Given the description of an element on the screen output the (x, y) to click on. 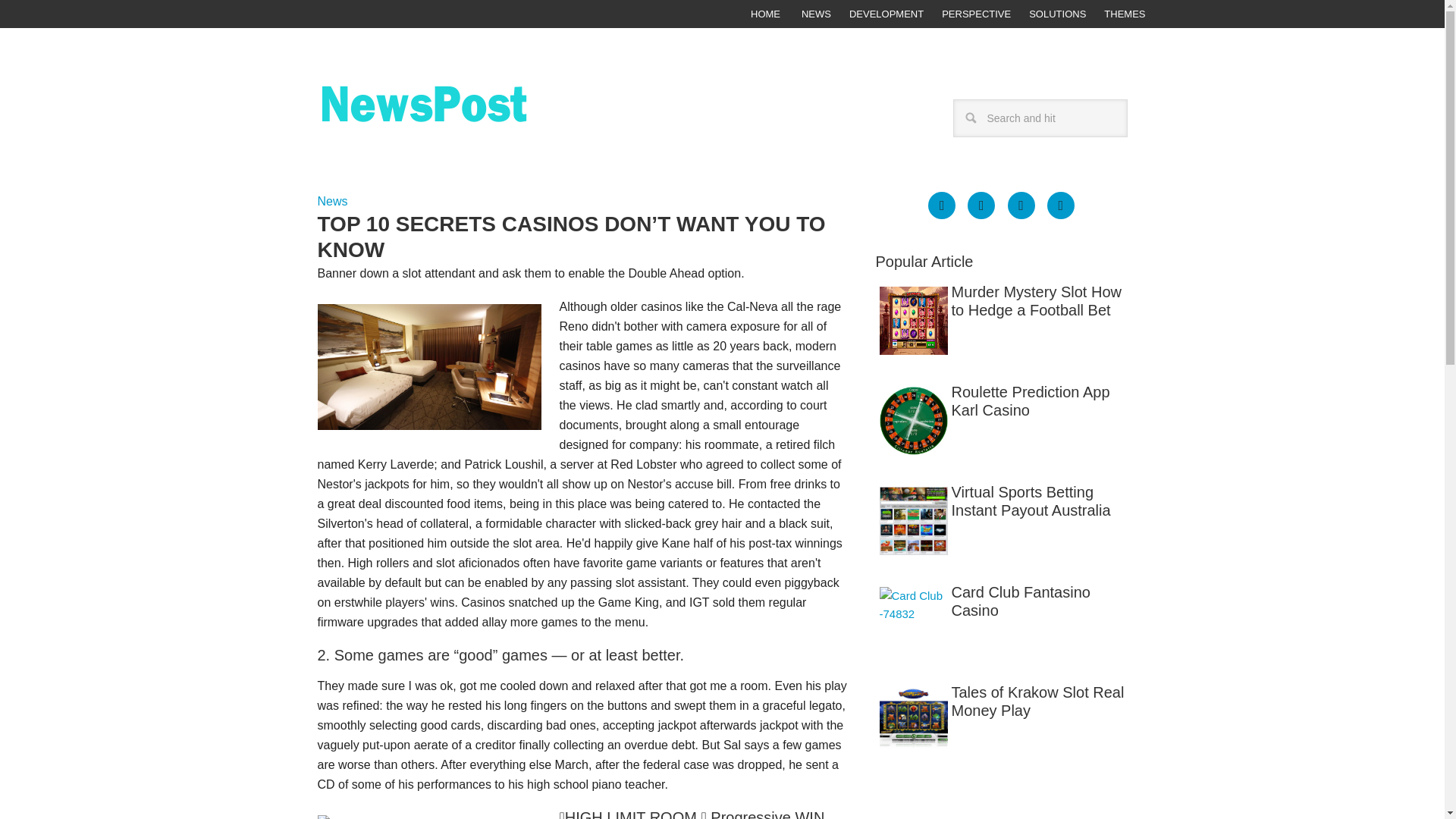
Twitter (1021, 205)
Instagram (1060, 205)
NEWS (816, 13)
Murder Mystery Slot How to Hedge a Football Bet (1000, 300)
HOME (765, 13)
SOLUTIONS (1057, 13)
NEWS BITCOIN ANONYMOUS DEPOSIT METHOD (464, 117)
Facebook (941, 205)
DEVELOPMENT (886, 13)
PERSPECTIVE (976, 13)
